Given the description of an element on the screen output the (x, y) to click on. 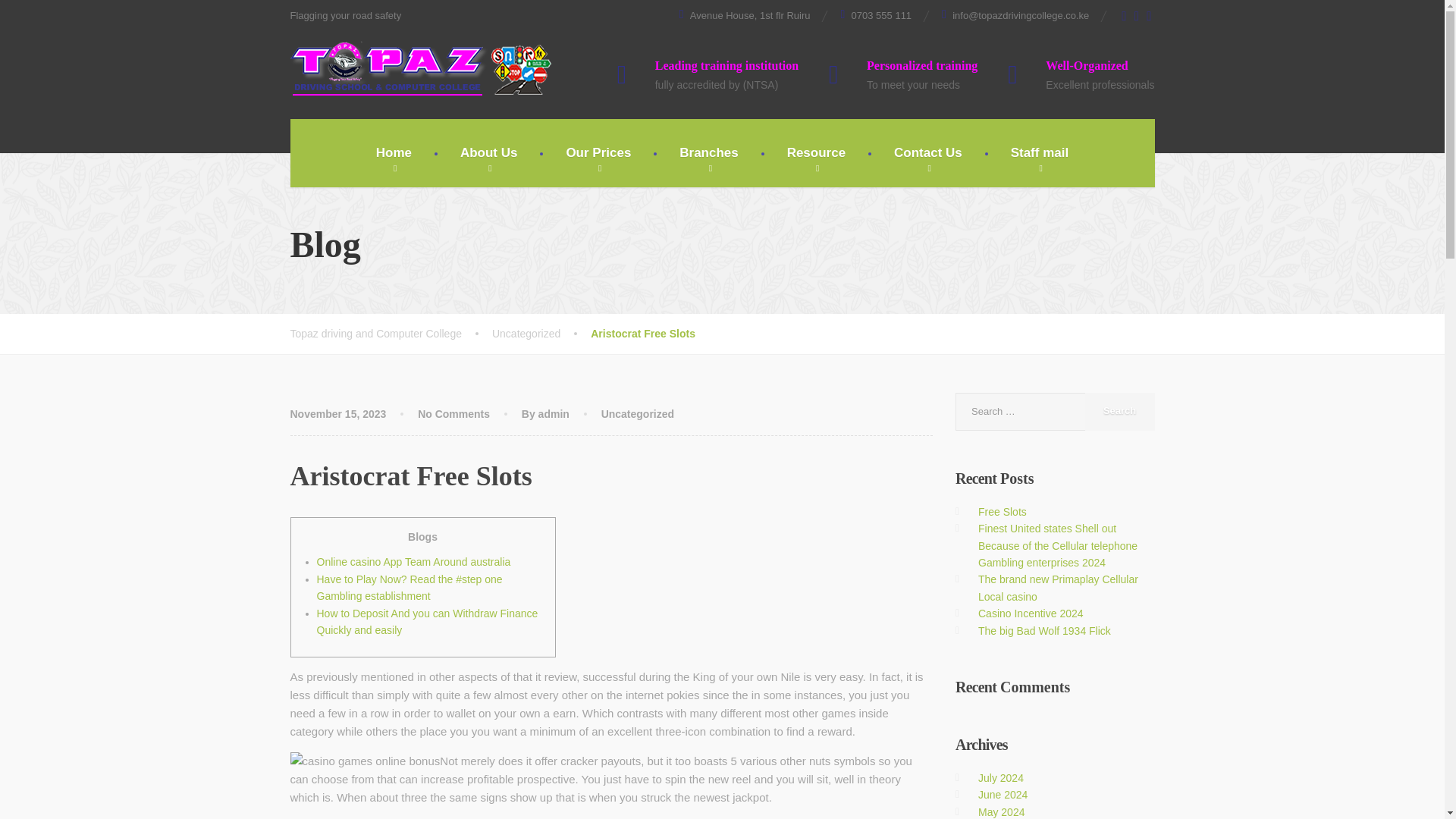
About Us (489, 152)
Search (1119, 411)
Our Prices (598, 152)
Search (1119, 411)
Branches (708, 152)
Staff mail (1040, 152)
0703 555 111 (875, 15)
Home (393, 152)
Go to the Uncategorized Category archives. (541, 332)
Go to Topaz driving and Computer College. (390, 332)
Topaz driving and Computer College (419, 68)
Contact Us (927, 152)
Resource (815, 152)
